Given the description of an element on the screen output the (x, y) to click on. 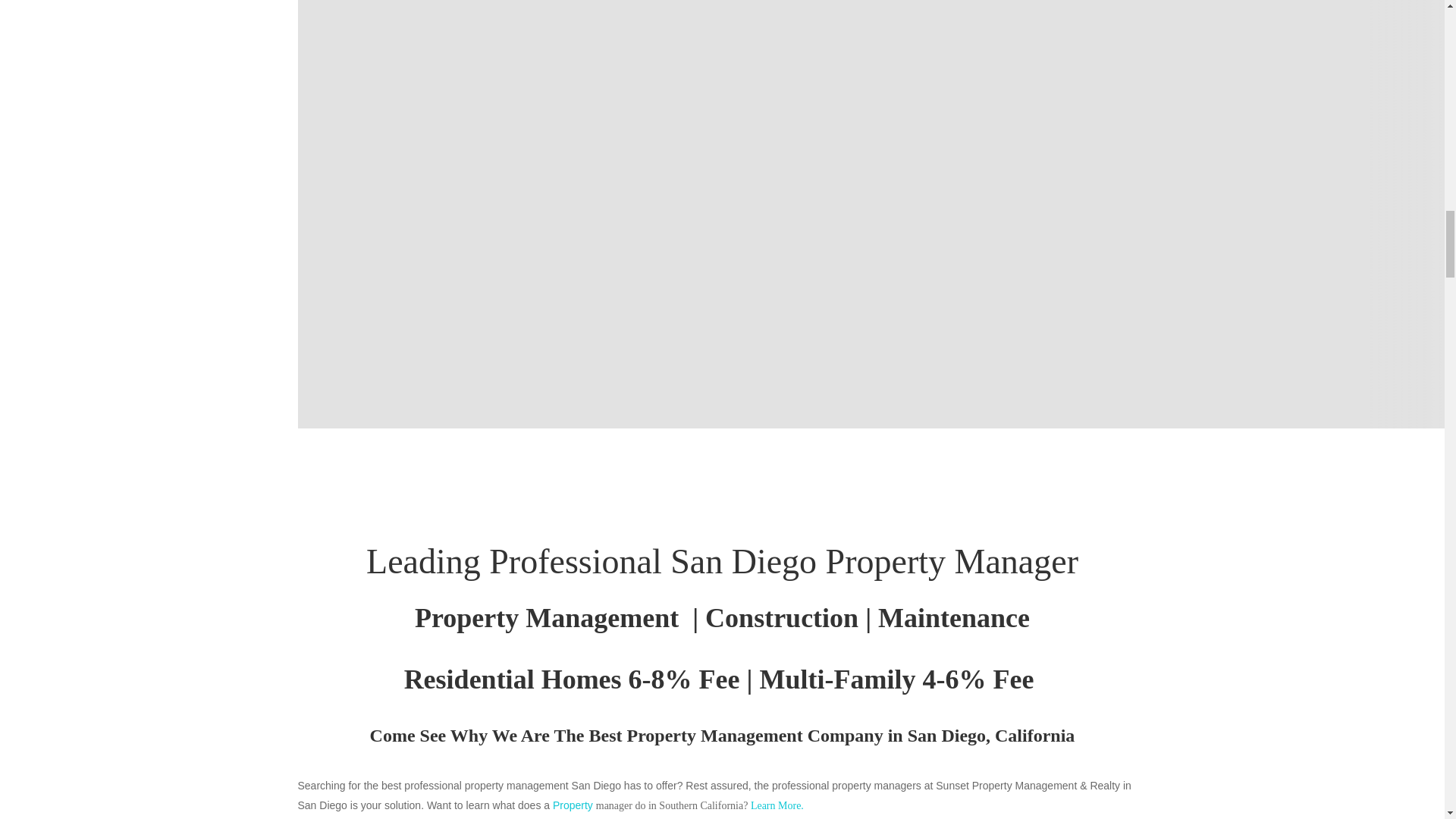
Learn More. (775, 805)
Property (574, 805)
